Given the description of an element on the screen output the (x, y) to click on. 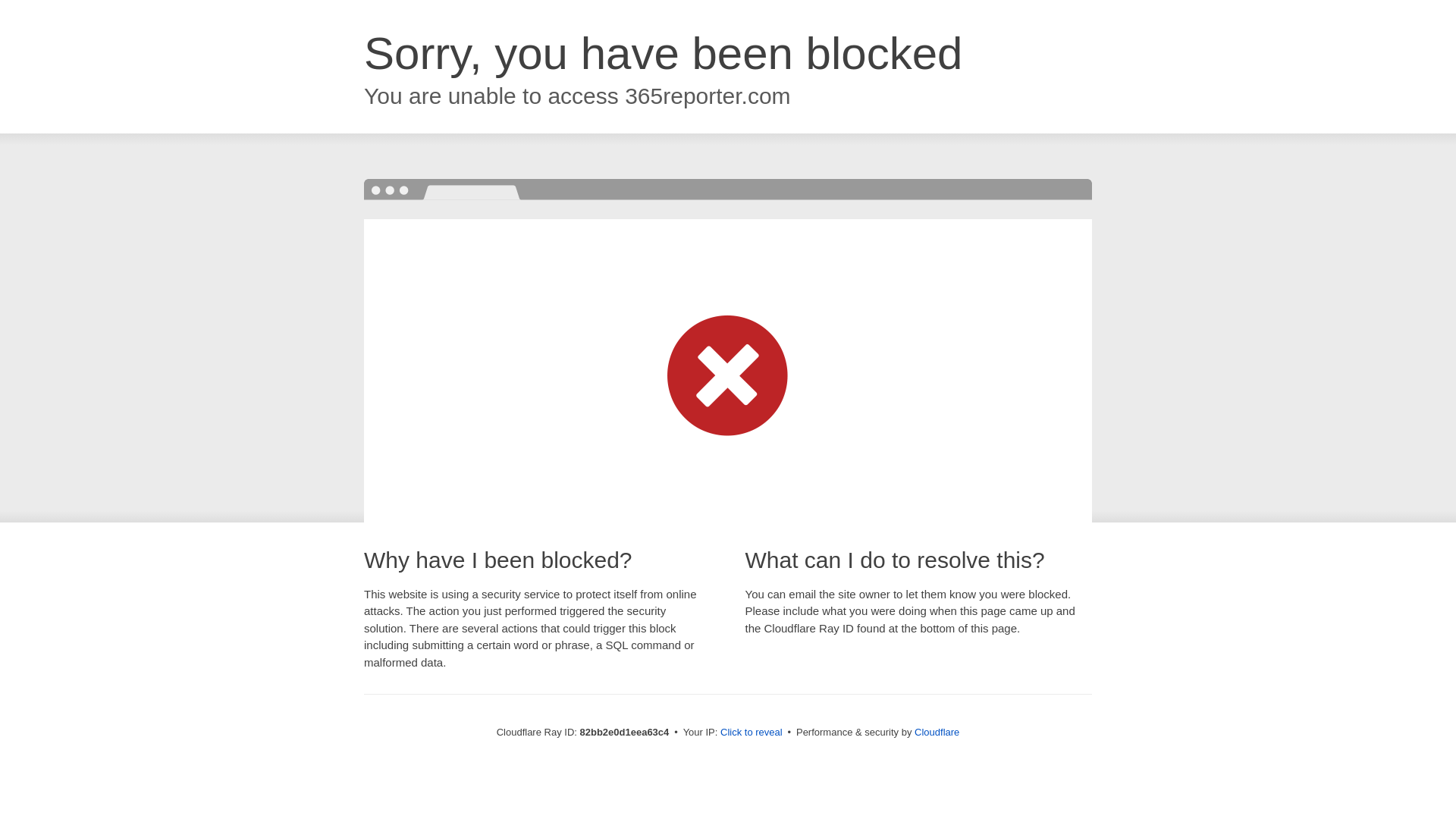
Click to reveal Element type: text (751, 732)
Cloudflare Element type: text (936, 731)
